Given the description of an element on the screen output the (x, y) to click on. 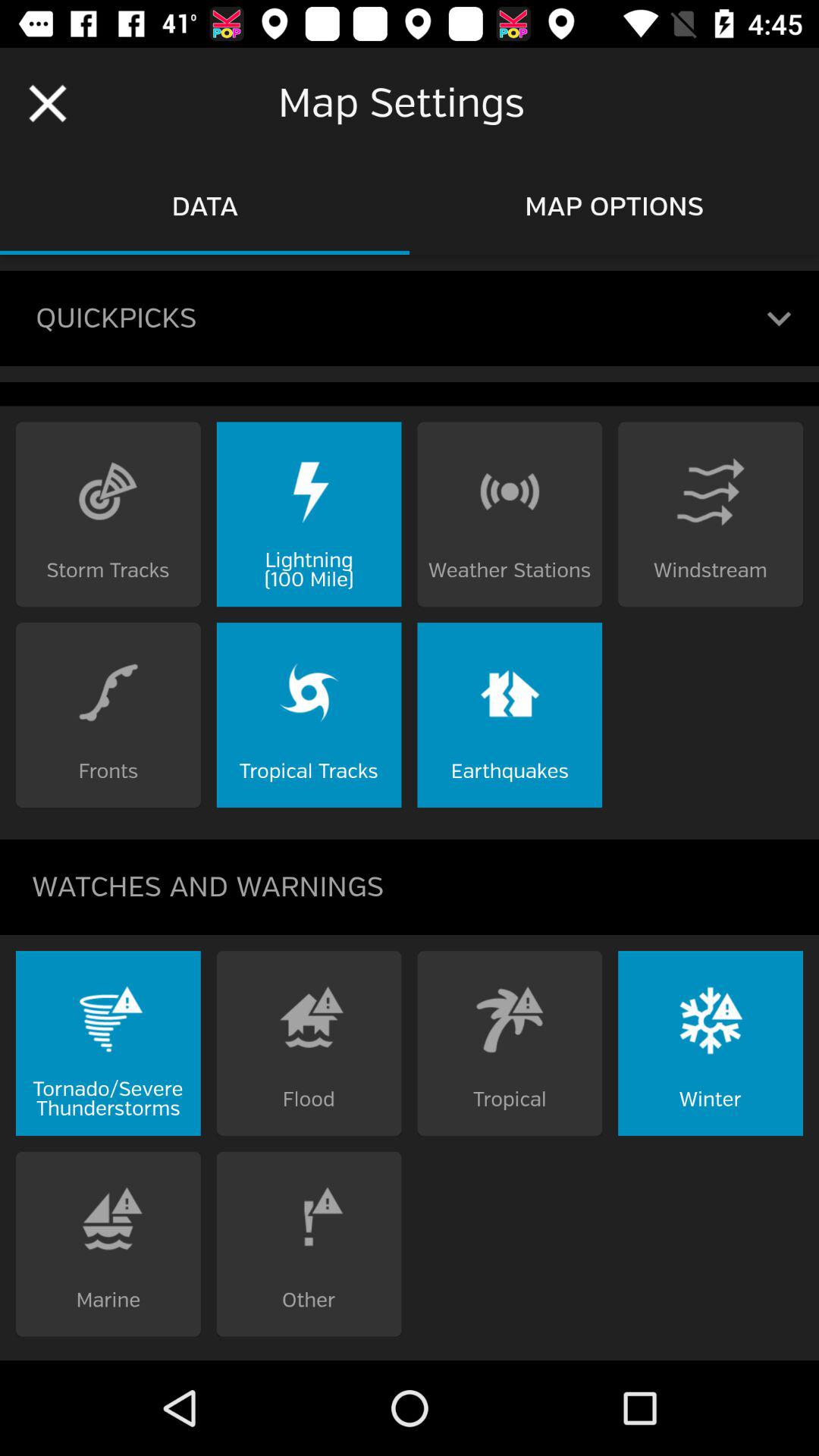
open dropdown menu (779, 318)
